Given the description of an element on the screen output the (x, y) to click on. 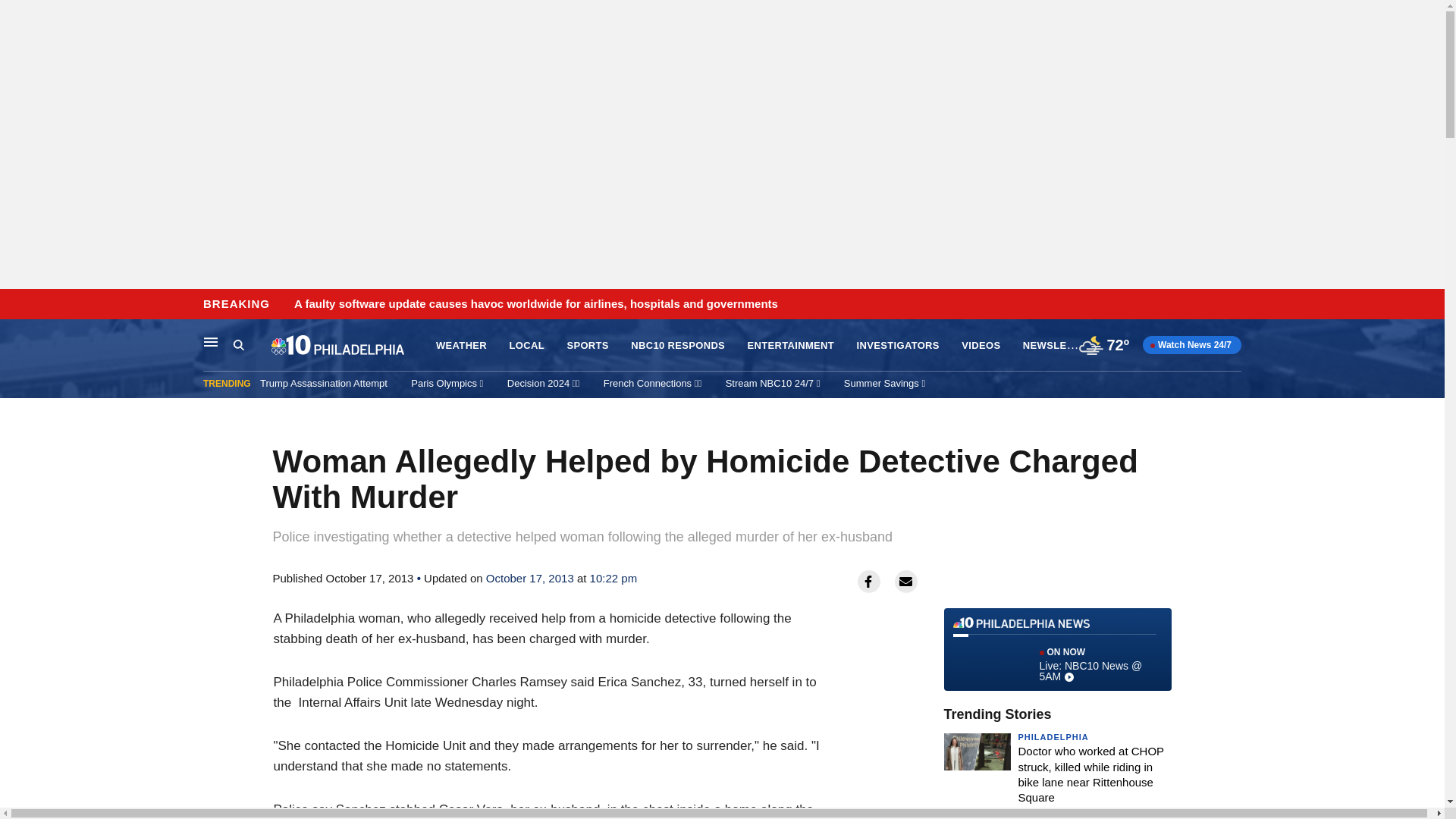
LOCAL (526, 345)
Search (252, 345)
INVESTIGATORS (898, 345)
NBC10 RESPONDS (677, 345)
WEATHER (460, 345)
NEWSLETTERS (1061, 344)
Trump Assassination Attempt (323, 383)
Search (238, 344)
Skip to content (16, 304)
SPORTS (587, 345)
ENTERTAINMENT (791, 345)
VIDEOS (980, 345)
Main Navigation (210, 341)
